Given the description of an element on the screen output the (x, y) to click on. 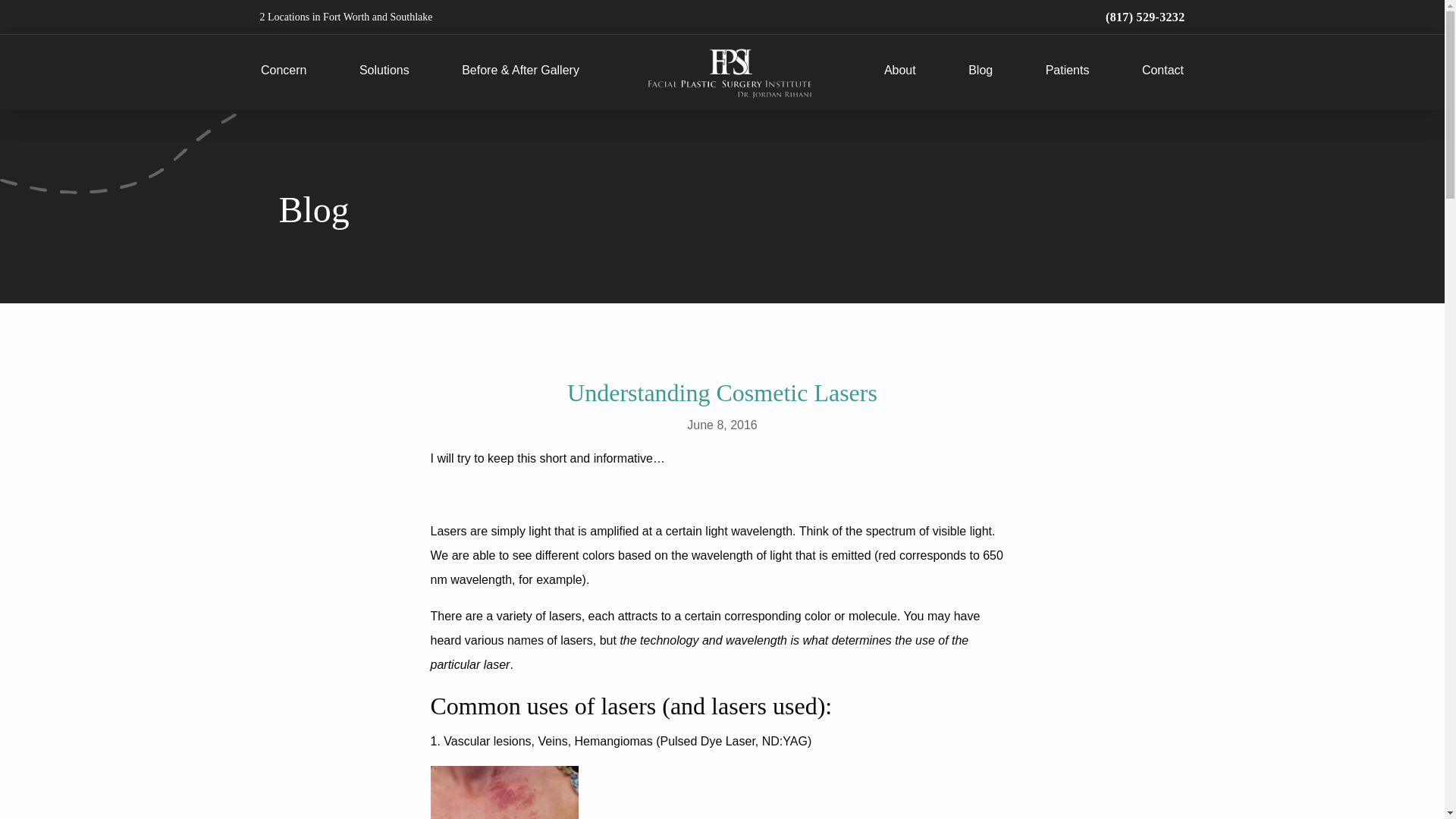
Solutions (384, 72)
Understanding Cosmetic Lasers (722, 392)
About (899, 72)
Concern (282, 72)
Blog (980, 72)
2 Locations in Fort Worth and Southlake (345, 16)
Patients (1067, 72)
Contact (1162, 72)
